Given the description of an element on the screen output the (x, y) to click on. 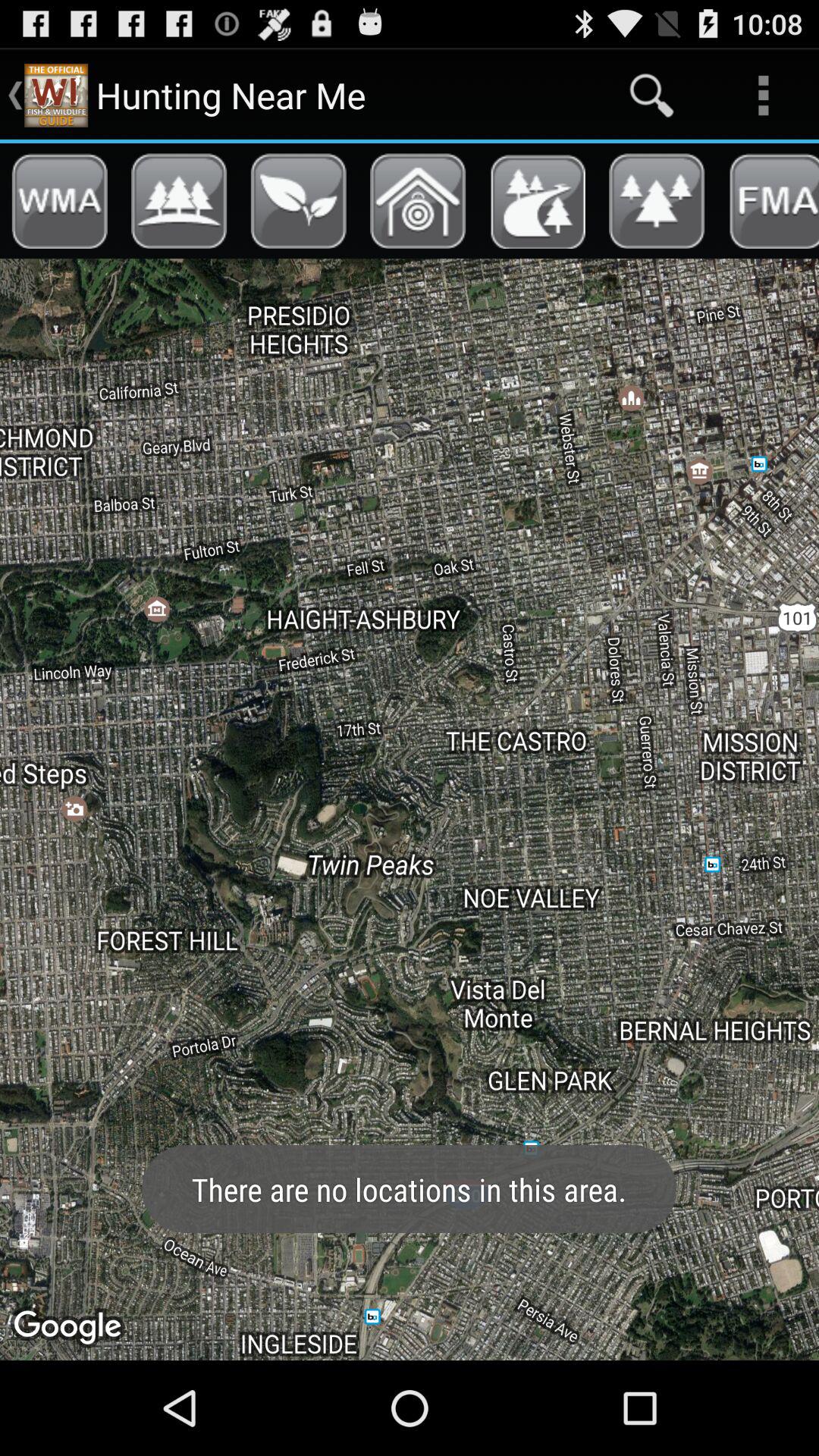
toggle shooting ranges near me (417, 201)
